Given the description of an element on the screen output the (x, y) to click on. 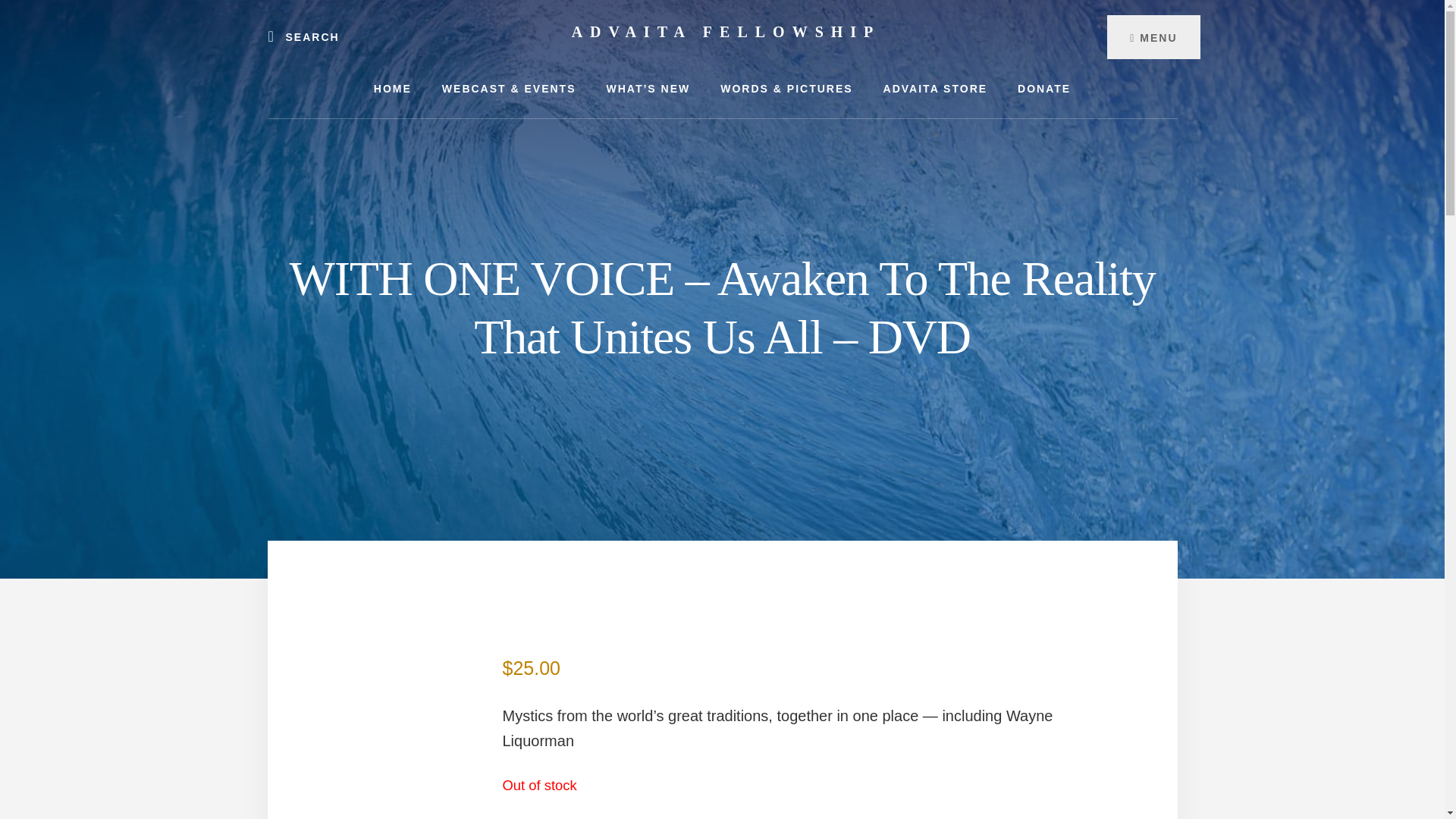
MENU (1152, 36)
HOME (392, 87)
ADVAITA STORE (935, 87)
ADVAITA FELLOWSHIP (726, 31)
DONATE (1044, 87)
